Given the description of an element on the screen output the (x, y) to click on. 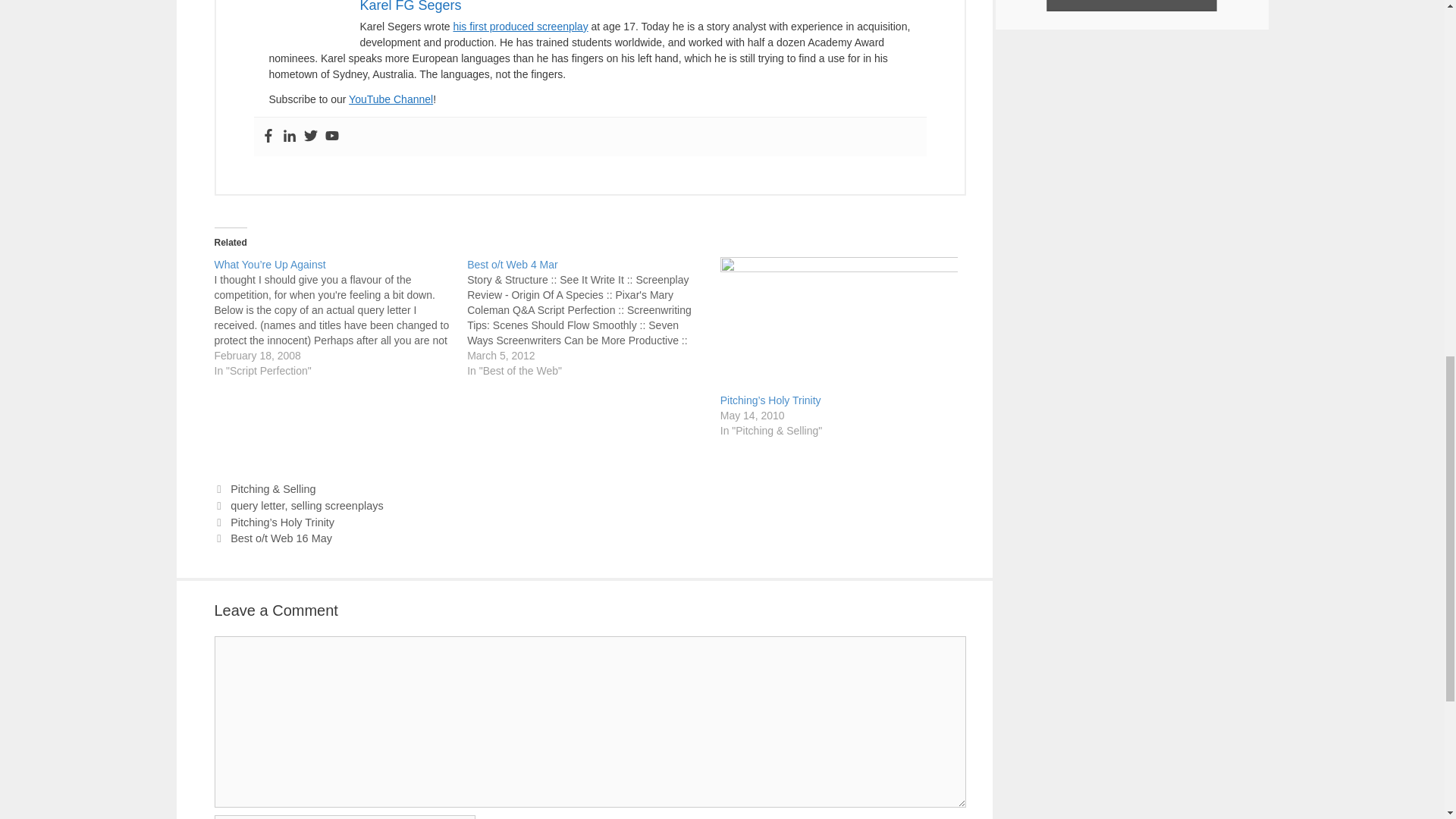
his first produced screenplay (520, 26)
Linkedin (288, 136)
Twitter (309, 136)
YouTube Channel (390, 99)
selling screenplays (337, 505)
Youtube (330, 136)
Karel FG Segers (410, 6)
query letter (256, 505)
Facebook (267, 136)
